Given the description of an element on the screen output the (x, y) to click on. 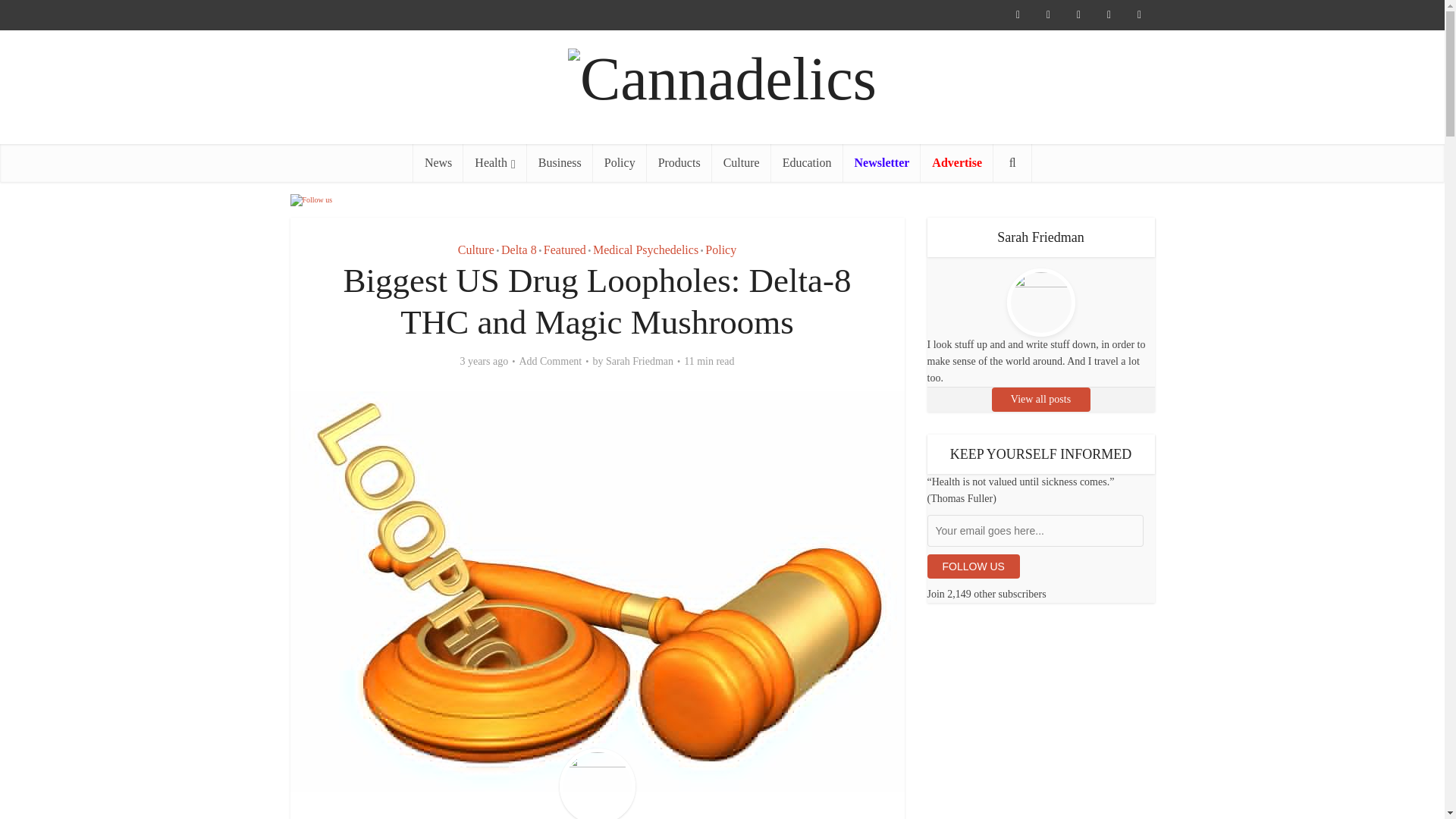
Advertise (956, 162)
Education (807, 162)
Products (678, 162)
Newsletter (882, 162)
Policy (619, 162)
Health (495, 162)
News (438, 162)
Culture (741, 162)
Business (559, 162)
